Given the description of an element on the screen output the (x, y) to click on. 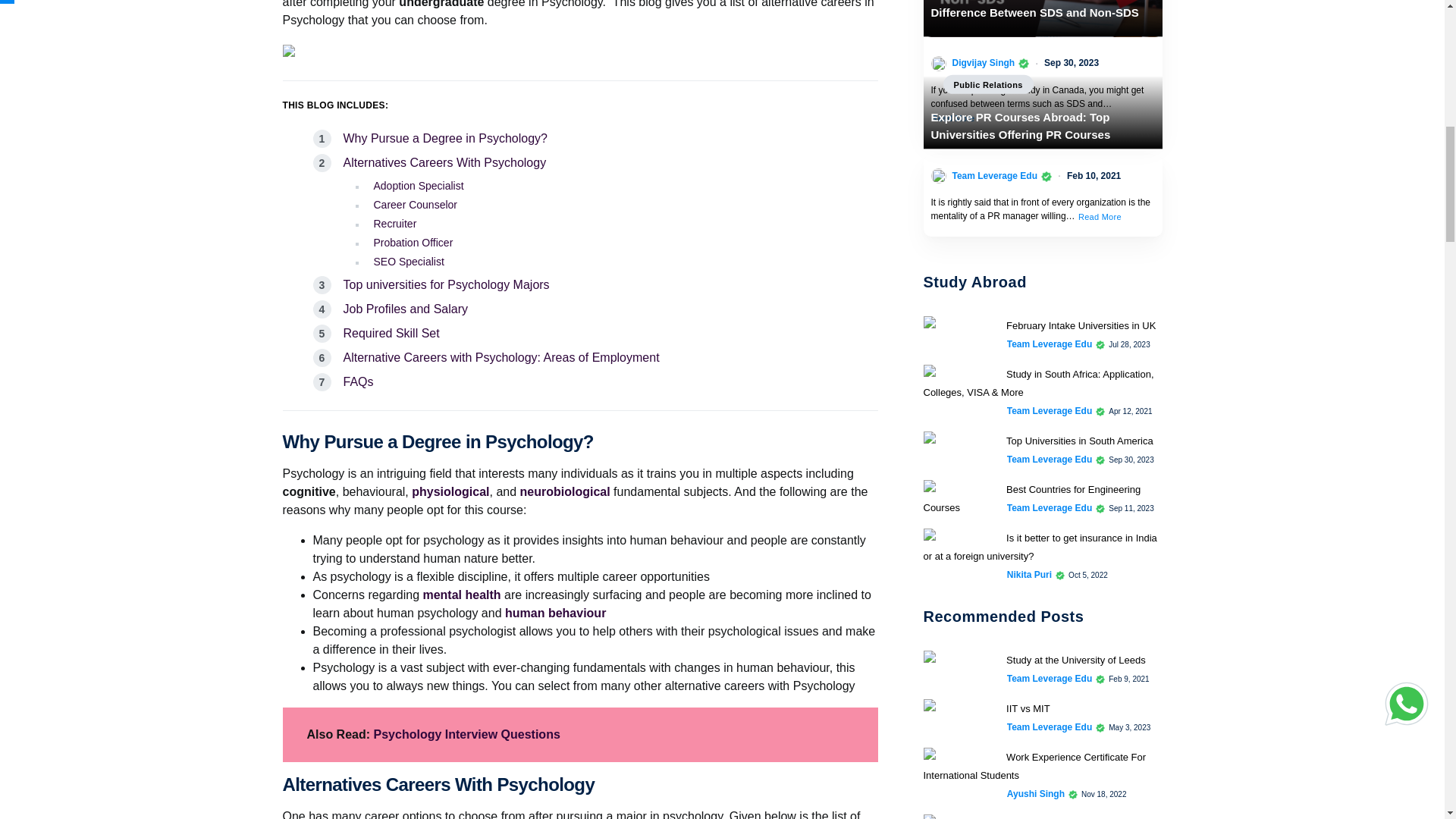
View all posts by Digvijay Singh (983, 62)
View all posts by Ayushi Singh (1035, 793)
View all posts by Team Leverage Edu (1050, 344)
View all posts by Team Leverage Edu (1050, 726)
View all posts by Team Leverage Edu (1050, 459)
View all posts by Team Leverage Edu (1050, 410)
View all posts by Nikita Puri (1029, 574)
View all posts by Team Leverage Edu (1050, 678)
View all posts by Team Leverage Edu (1050, 508)
View all posts by Team Leverage Edu (995, 175)
